Given the description of an element on the screen output the (x, y) to click on. 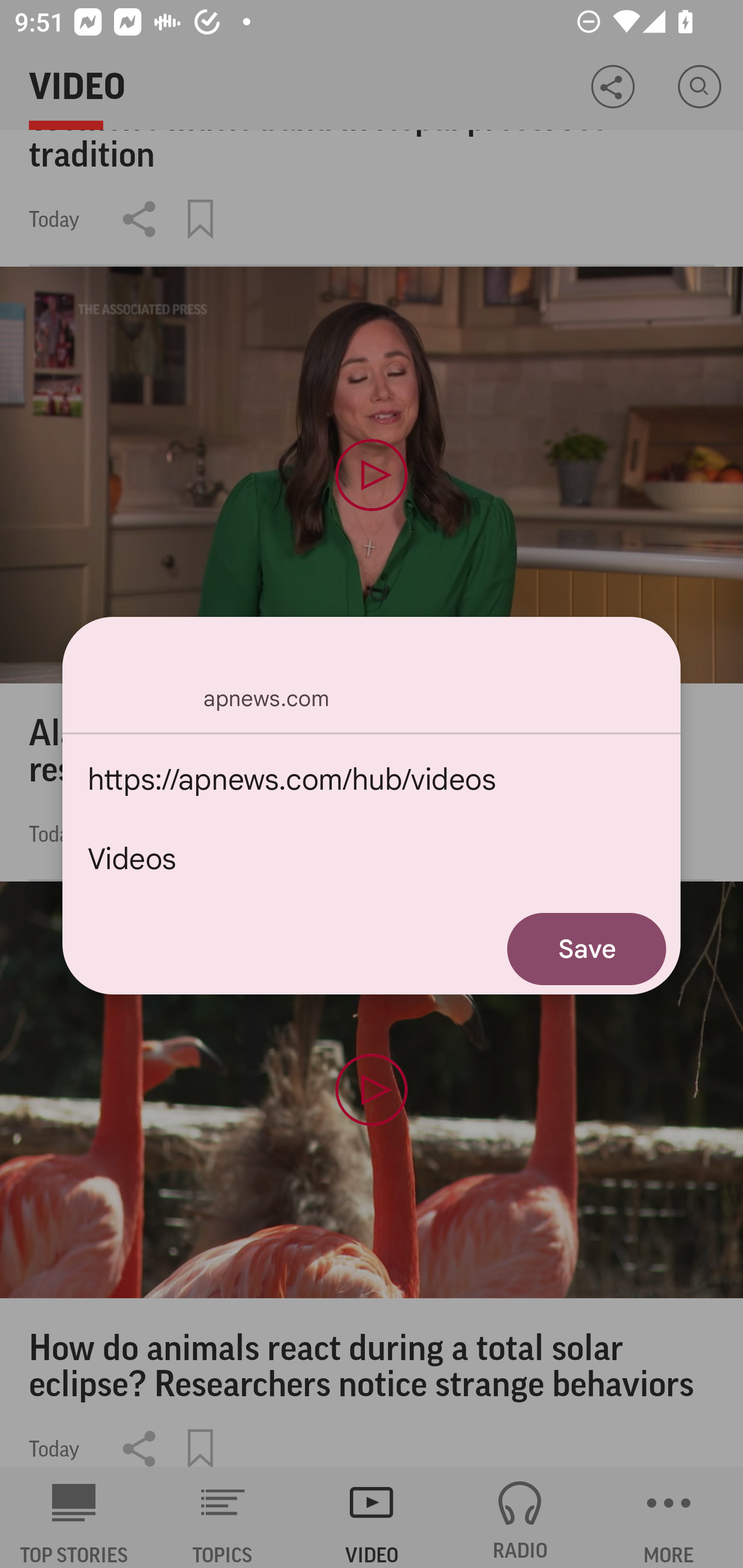
apnews.com (371, 674)
https://apnews.com/hub/videos 

Videos (371, 819)
Save (586, 949)
